Given the description of an element on the screen output the (x, y) to click on. 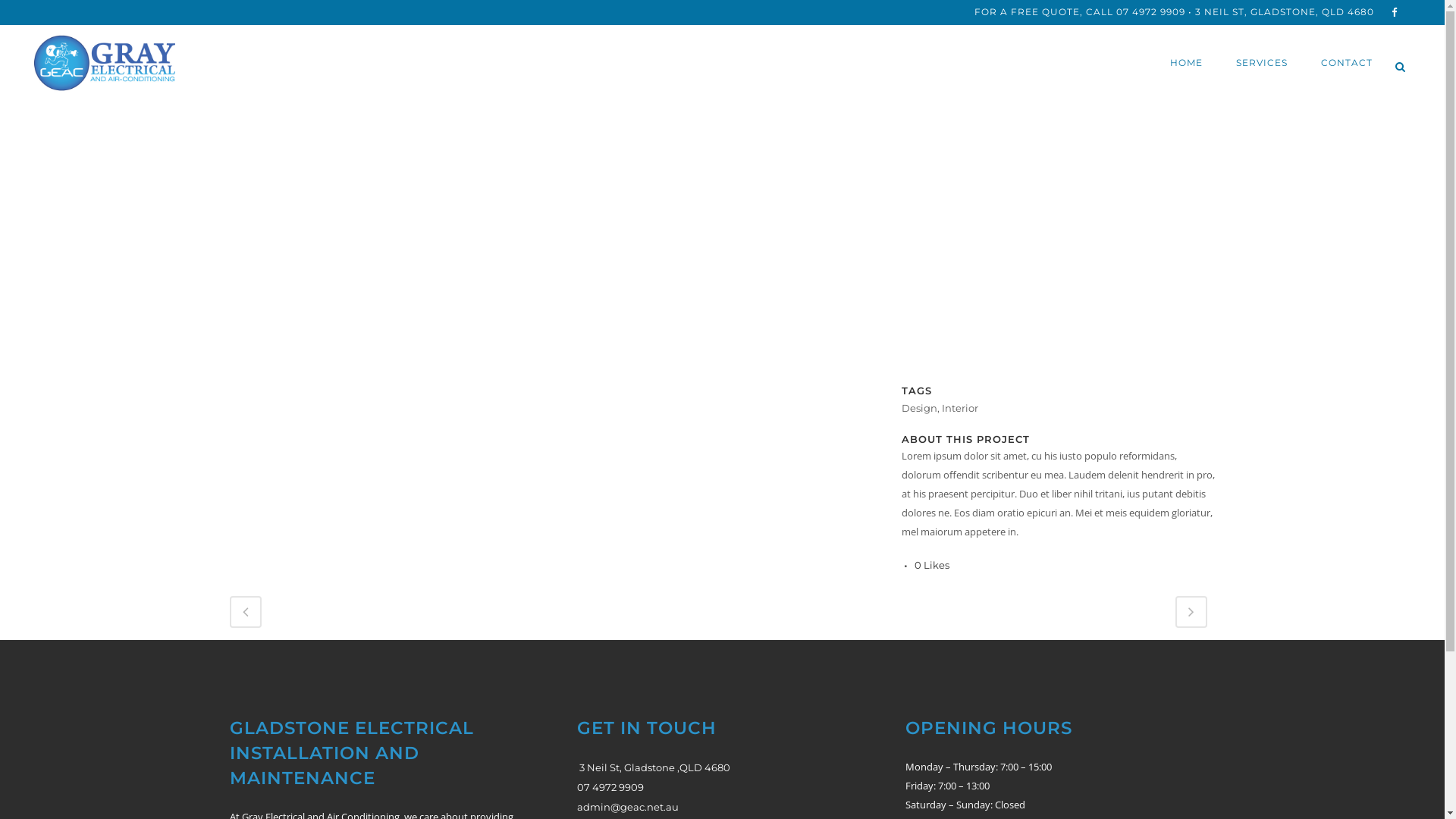
SERVICES Element type: text (1261, 62)
HOME Element type: text (1186, 62)
0 Likes Element type: text (931, 565)
CONTACT Element type: text (1346, 62)
admin@geac.net.au Element type: text (627, 806)
